Given the description of an element on the screen output the (x, y) to click on. 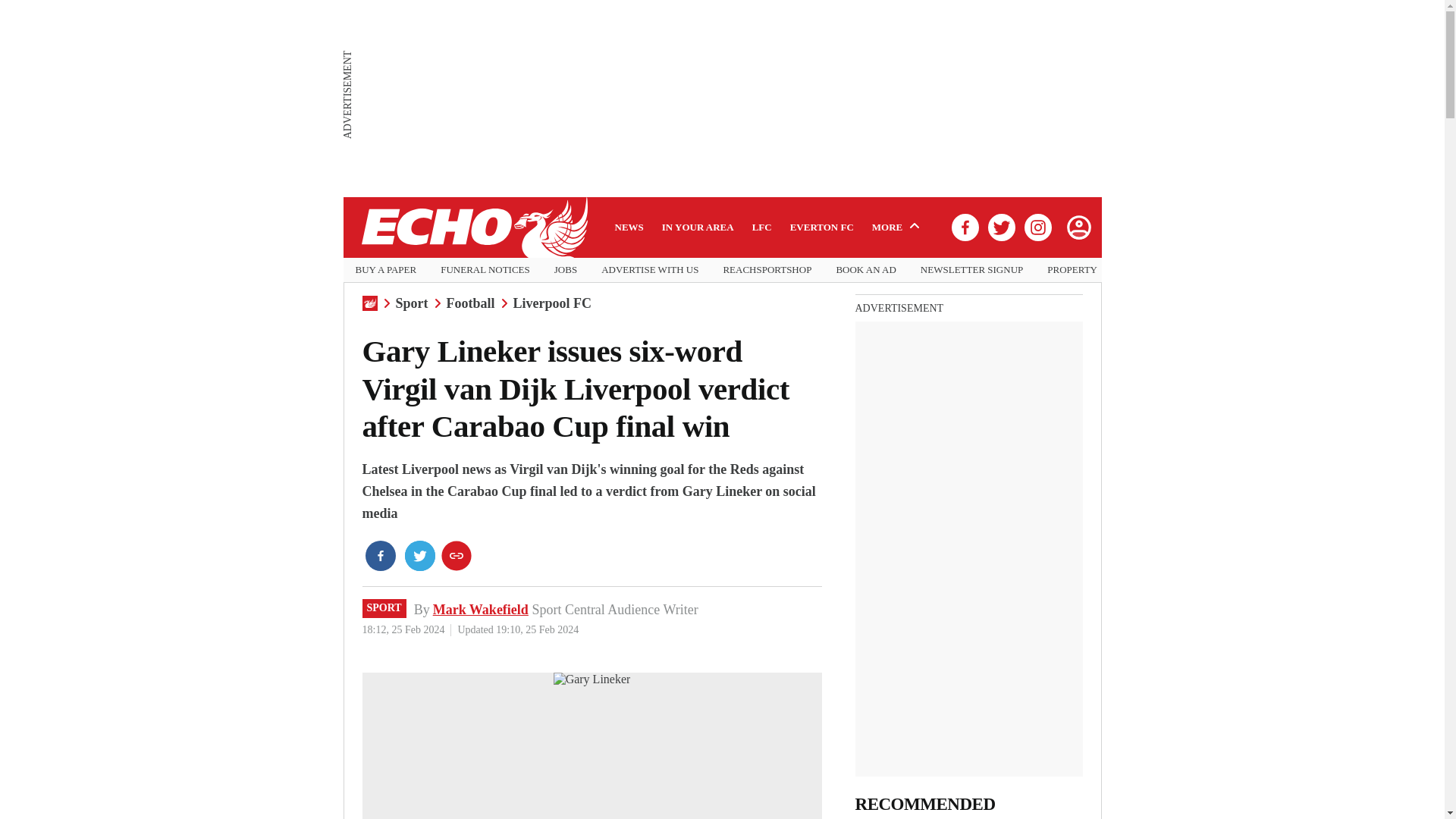
PROPERTY (1071, 270)
Football (470, 303)
Mark Wakefield (480, 609)
BOOK AN AD (865, 270)
Sport (412, 303)
SPORT (384, 607)
avatar (1077, 227)
Go to the Liverpool Echo homepage (473, 227)
NEWSLETTER SIGNUP (971, 270)
MORE (897, 227)
